Given the description of an element on the screen output the (x, y) to click on. 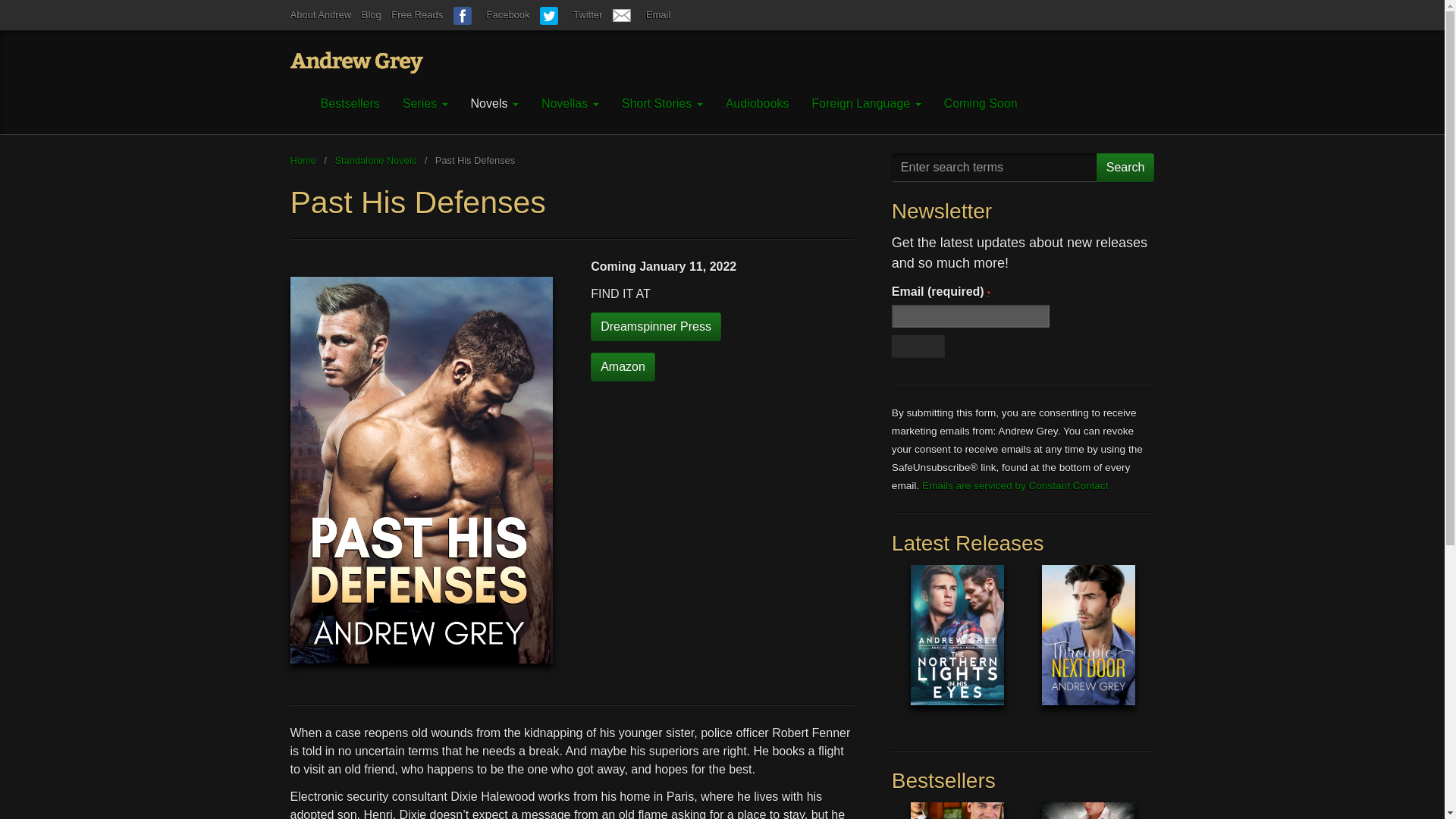
Blog (371, 14)
About Andrew (319, 14)
Facebook (490, 14)
Throuple Next Door (1088, 646)
Follow Andrew on Twitter (571, 14)
Series (425, 103)
About Andrew (319, 14)
Email (640, 14)
Sign up (917, 345)
Free Reads (416, 14)
Email (640, 14)
Twitter (571, 14)
Like Andrew on Facebook (490, 14)
Northern Lights in HIs Eyes (957, 646)
Andrew Grey (355, 62)
